Given the description of an element on the screen output the (x, y) to click on. 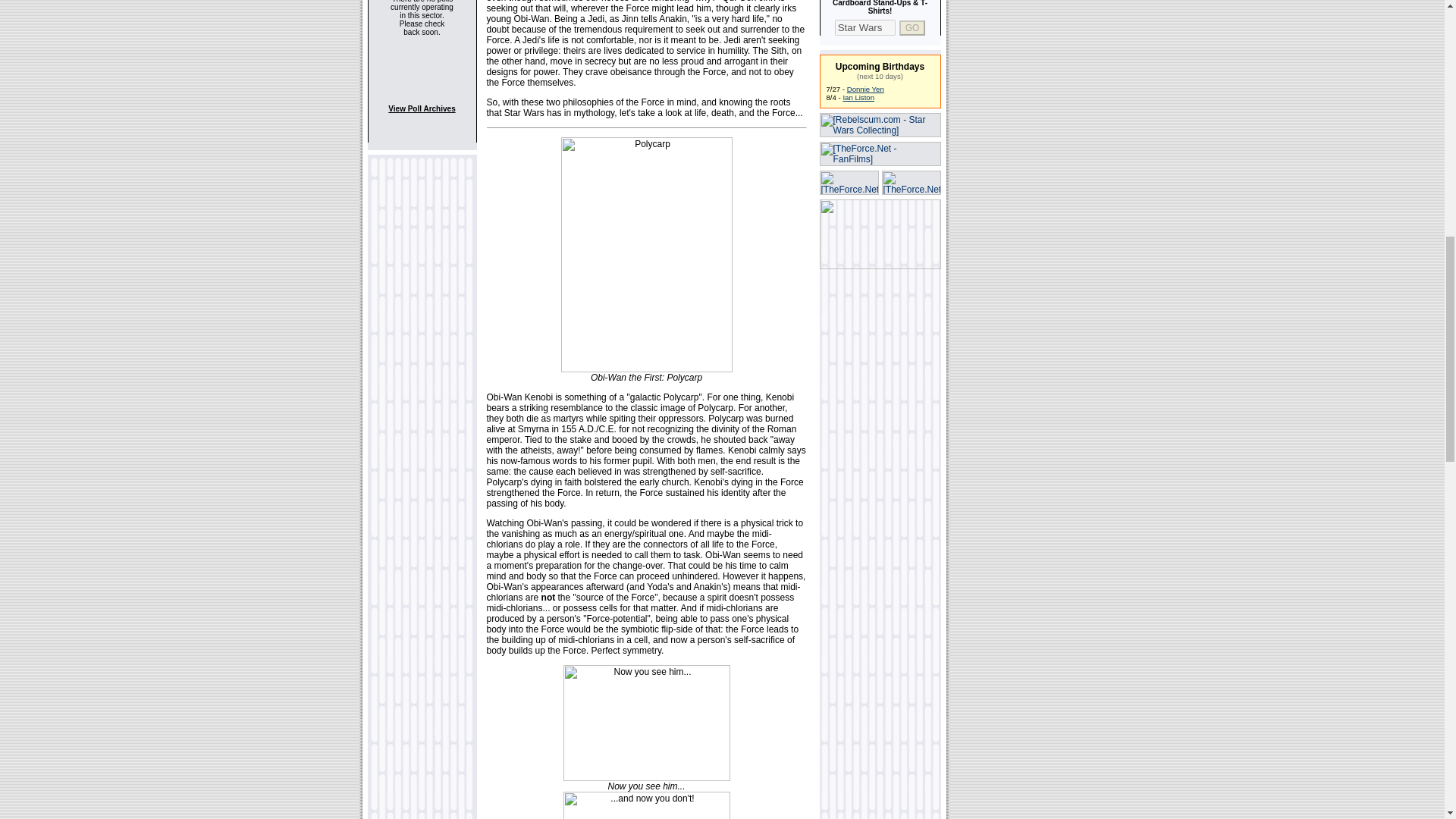
GO (912, 27)
EP 5: Janson (859, 97)
Donnie Yen (865, 89)
Star Wars (864, 27)
GO (912, 27)
Ian Liston (859, 97)
View Poll Archives (421, 108)
